Given the description of an element on the screen output the (x, y) to click on. 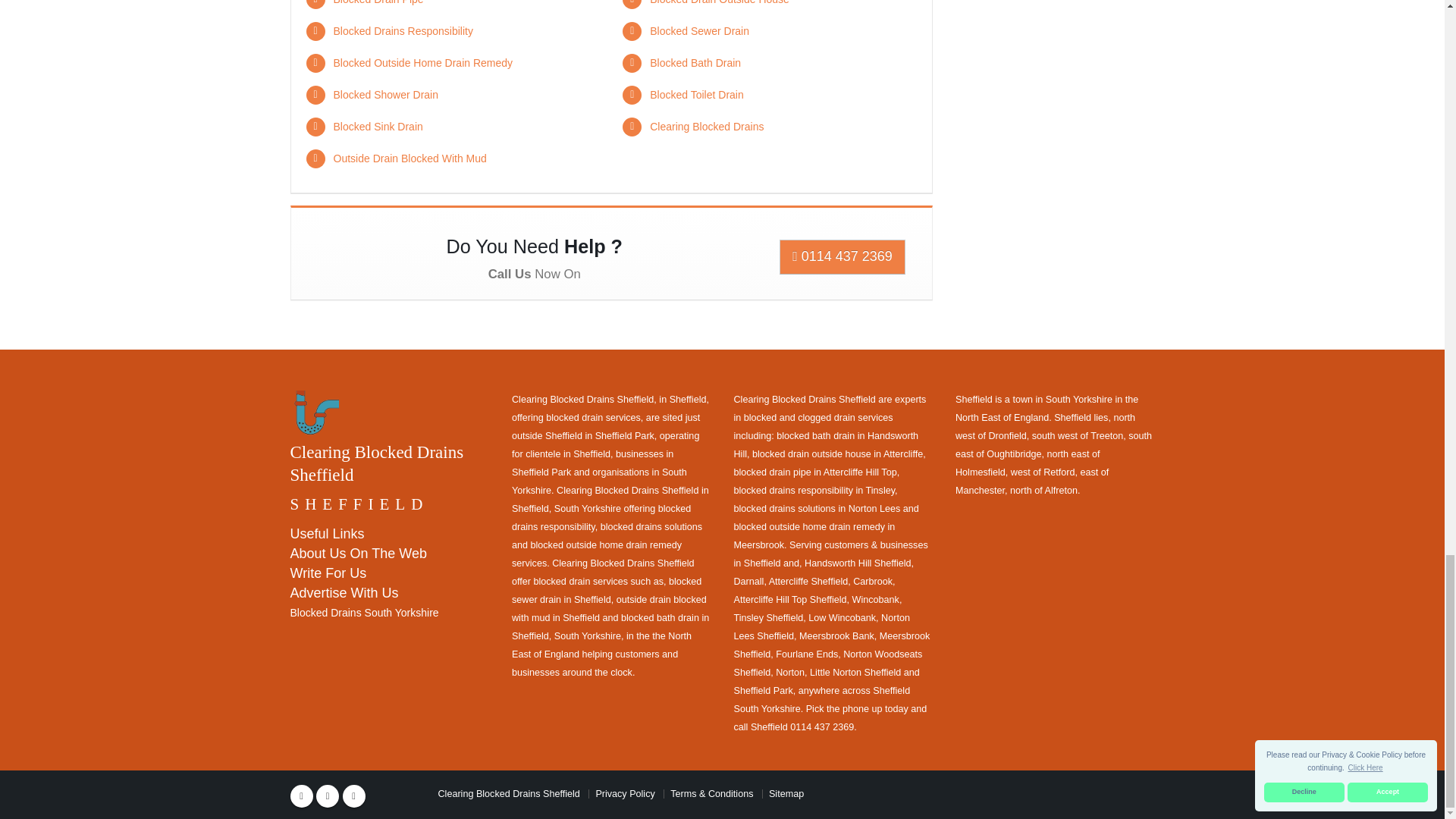
Blocked Drains Responsibility (403, 30)
Blocked Drain Pipe (378, 2)
Facebook (301, 795)
Blocked Toilet Drain (695, 94)
Blocked Bath Drain (695, 62)
Twitter (327, 795)
Blocked Drain Outside House (719, 2)
Blocked Sewer Drain (699, 30)
0114 437 2369 (841, 256)
Blocked Shower Drain (386, 94)
